Given the description of an element on the screen output the (x, y) to click on. 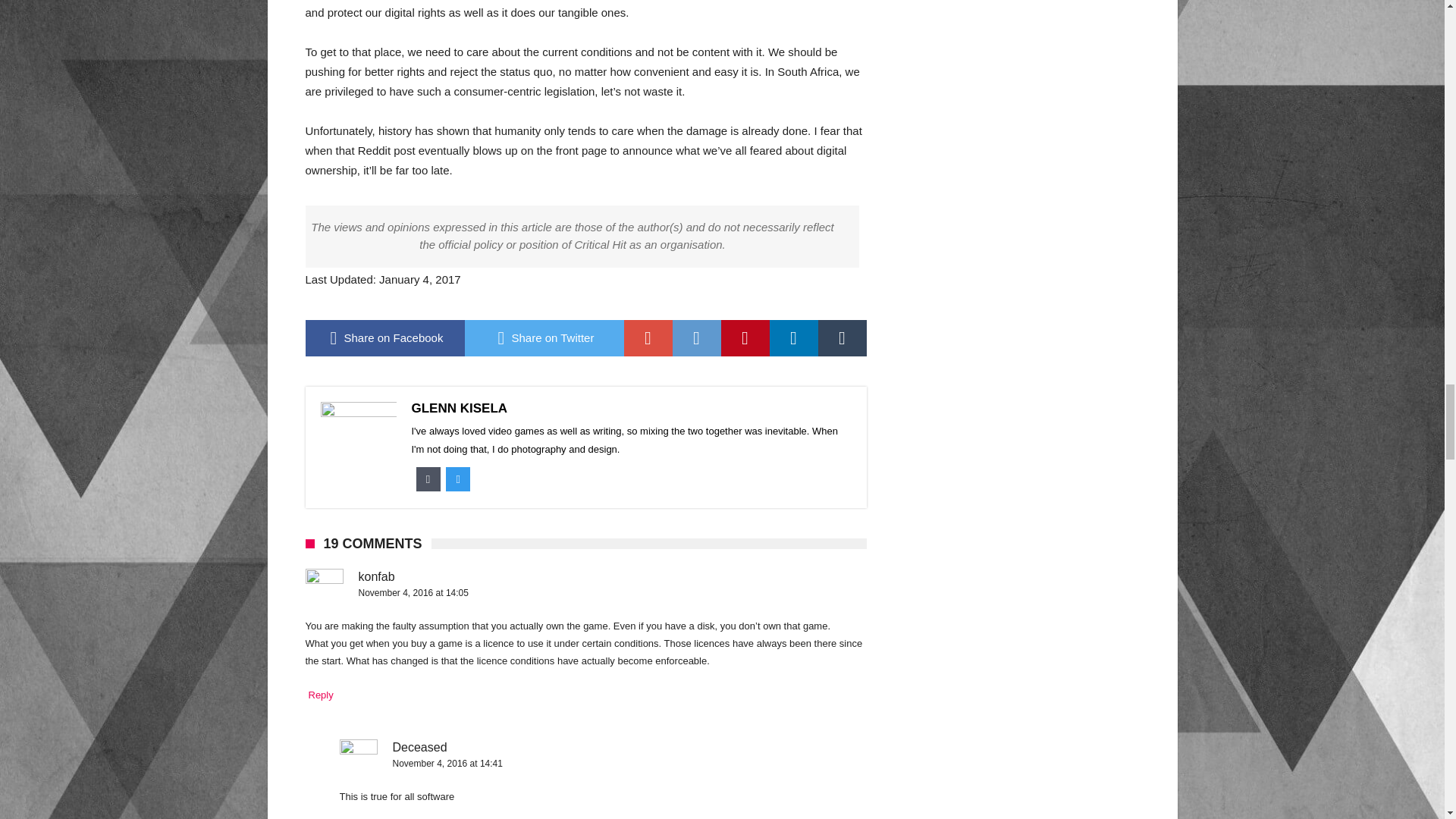
Share on Reddit (695, 338)
Share on Twitter (543, 338)
Share on Linkedin (792, 338)
Share on Tumblr (841, 338)
Share on Facebook (384, 338)
Share on Pinterest (744, 338)
